Given the description of an element on the screen output the (x, y) to click on. 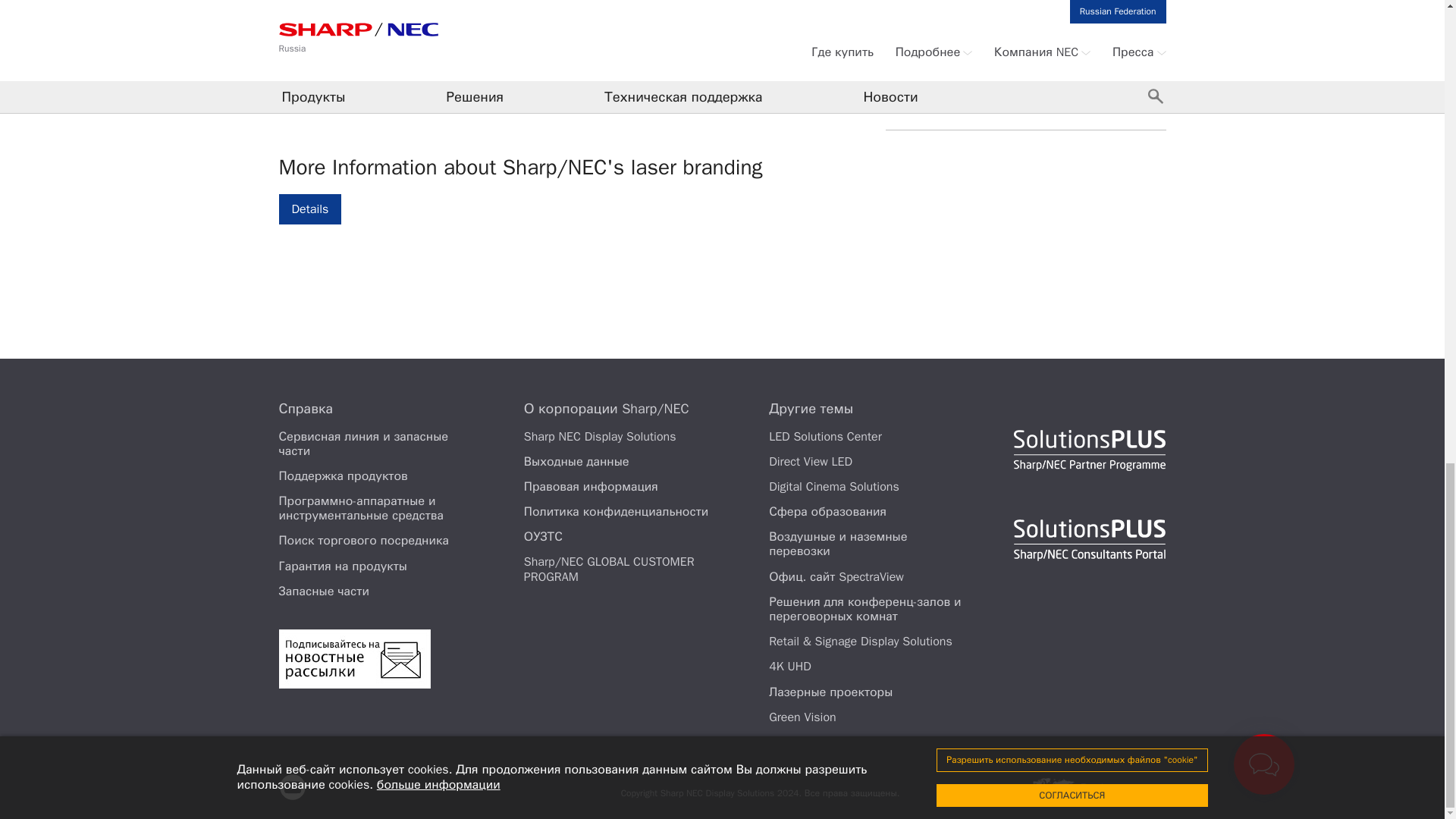
4K UHD (789, 666)
Digital Cinema Solutions (833, 486)
Sharp NEC YouTube channel (292, 786)
Direct View LED (809, 461)
Sharp NEC Consultant Partner Programme (1089, 539)
LED Solutions Center (825, 436)
Green Vision (801, 717)
